Given the description of an element on the screen output the (x, y) to click on. 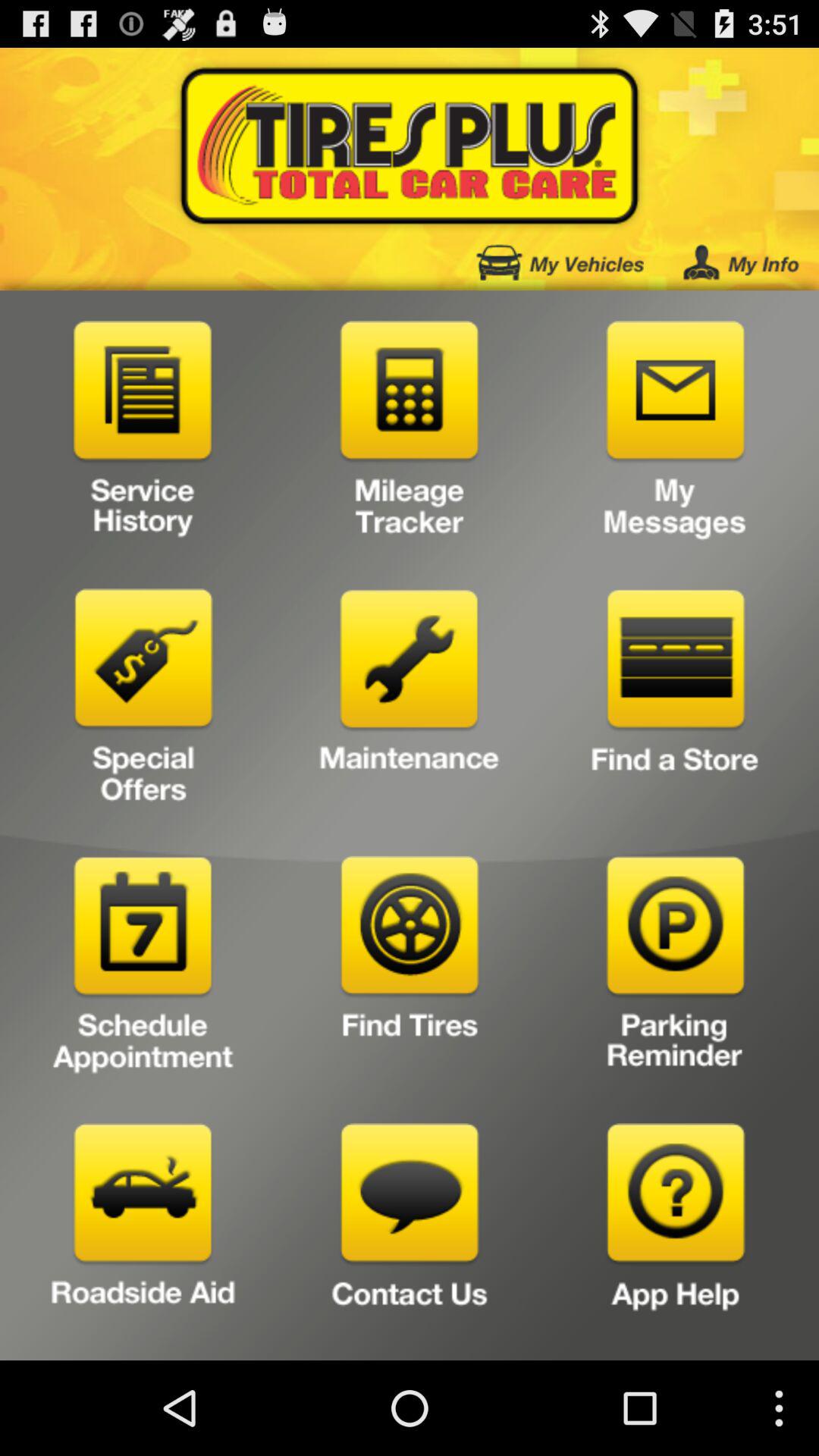
find tires that fit your car (409, 968)
